Given the description of an element on the screen output the (x, y) to click on. 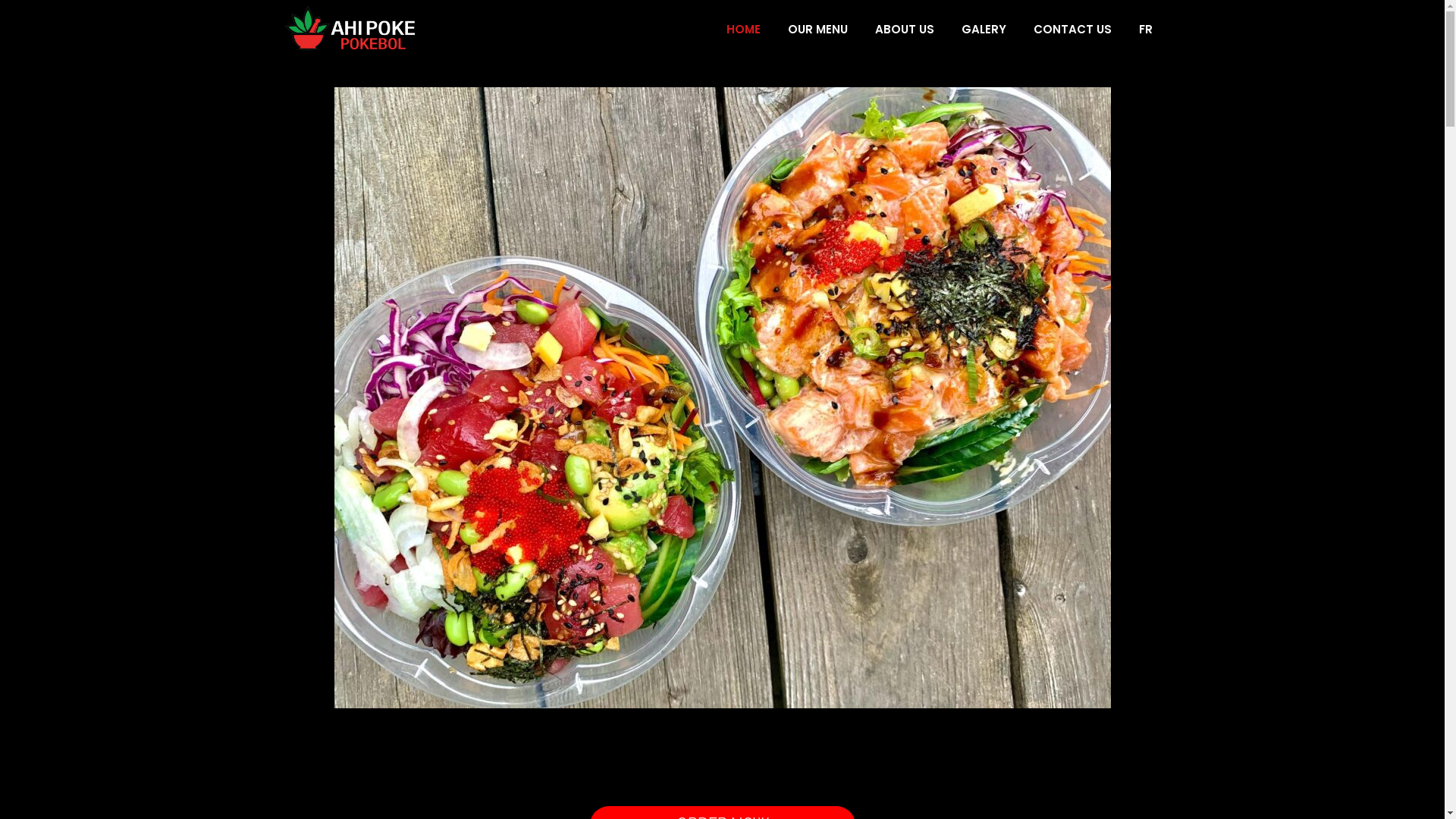
OUR MENU Element type: text (816, 28)
HOME Element type: text (743, 28)
GALERY Element type: text (983, 28)
CONTACT US Element type: text (1071, 28)
FR Element type: text (1145, 28)
ABOUT US Element type: text (904, 28)
